Given the description of an element on the screen output the (x, y) to click on. 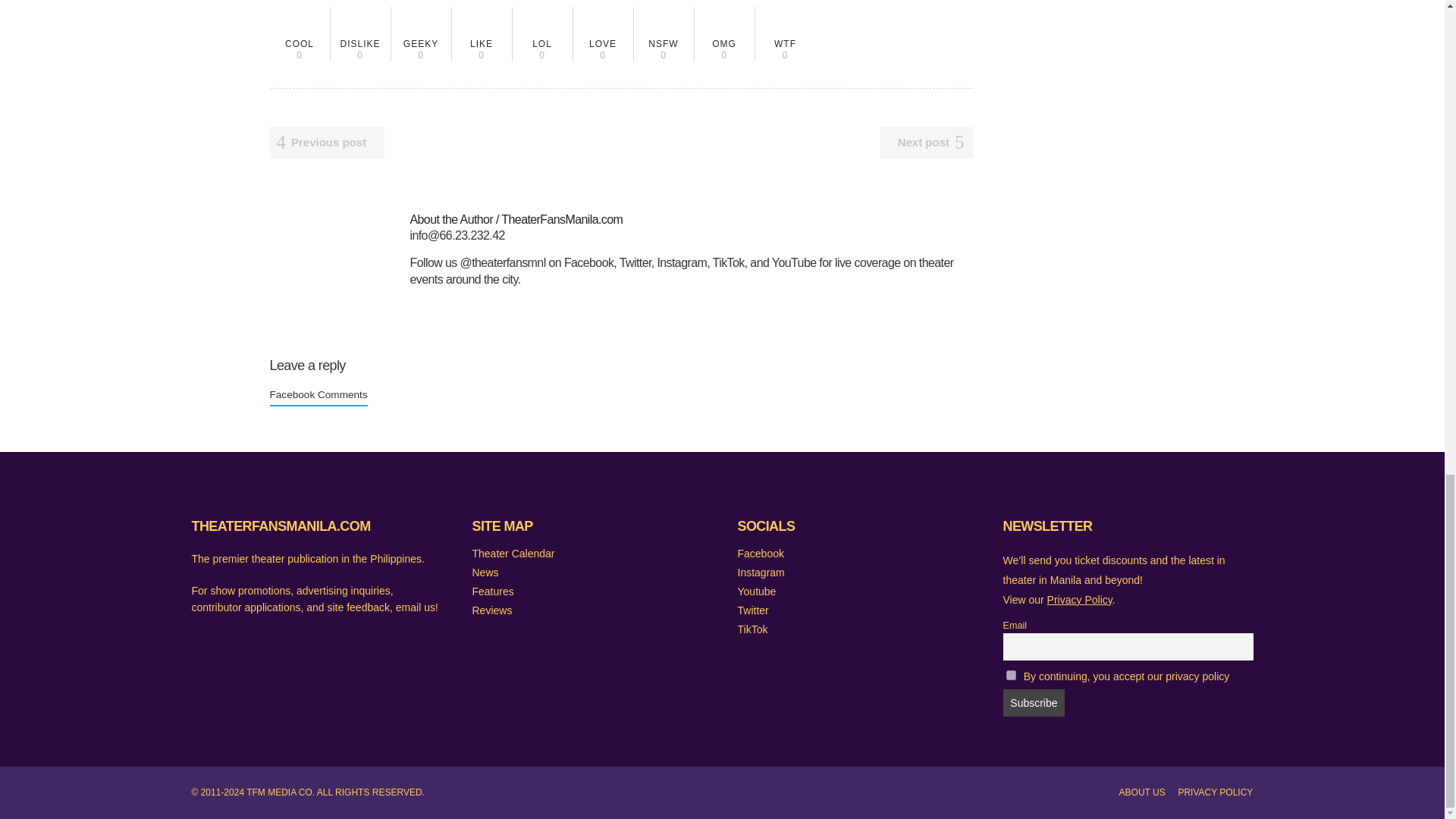
on (1010, 675)
Subscribe (481, 33)
